Given the description of an element on the screen output the (x, y) to click on. 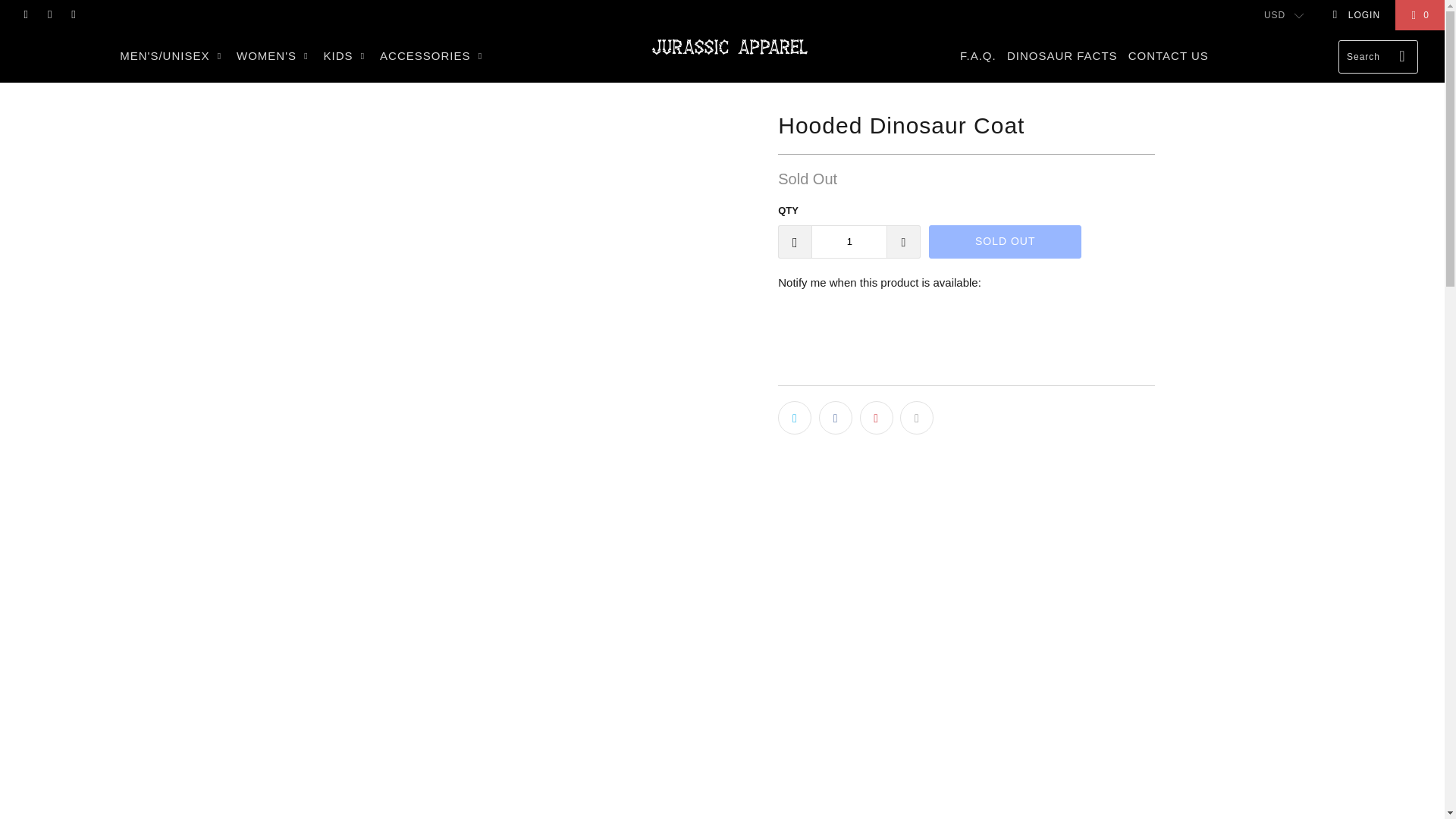
My Account  (1355, 15)
1 (848, 240)
Share this on Pinterest (876, 417)
Share this on Twitter (793, 417)
Email this to a friend (916, 417)
Jurassic Apparel (729, 46)
Jurassic Apparel on Instagram (48, 14)
Email Jurassic Apparel (73, 14)
Jurassic Apparel on Facebook (25, 14)
Share this on Facebook (834, 417)
